Given the description of an element on the screen output the (x, y) to click on. 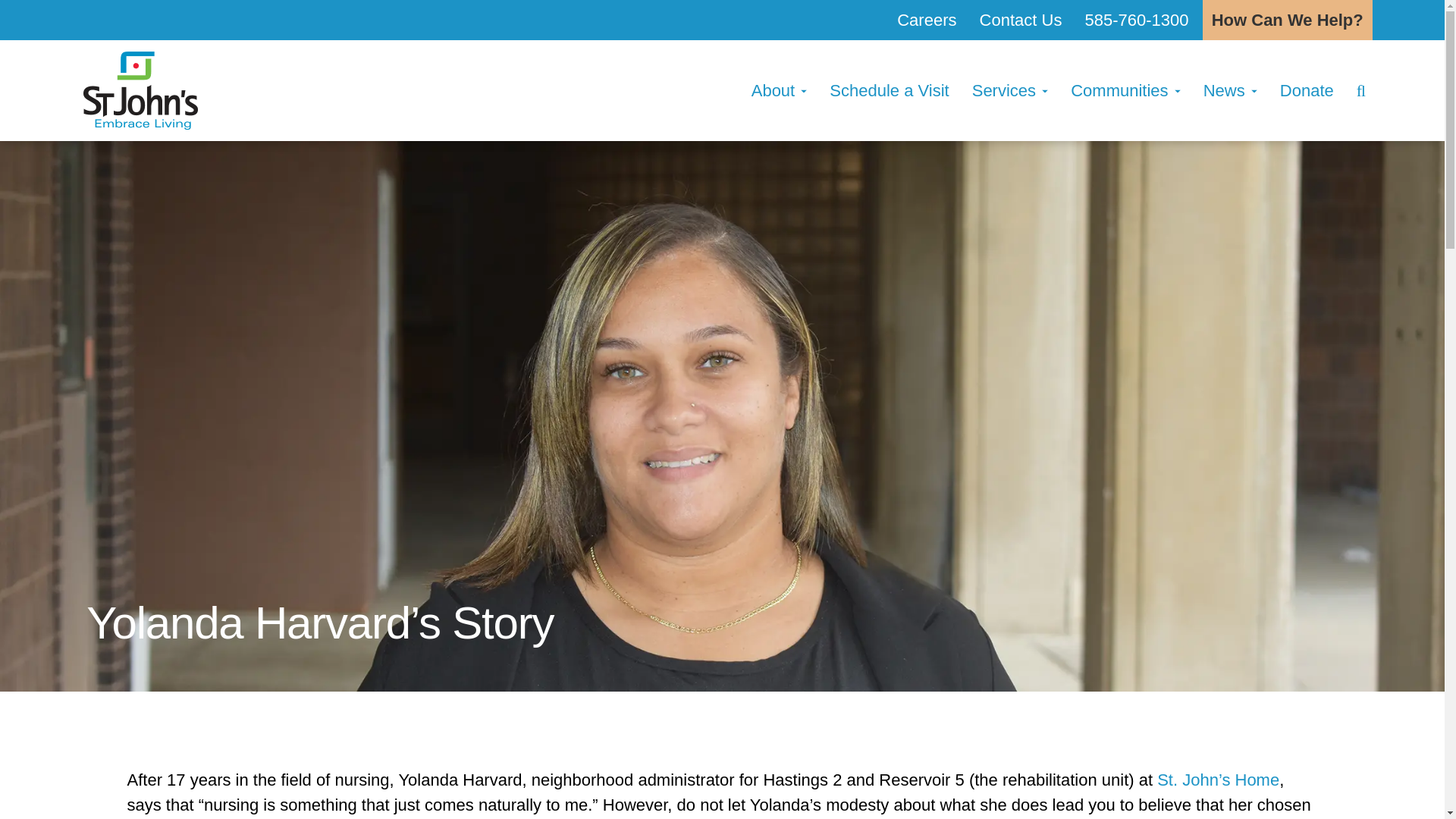
About (778, 90)
Schedule a Visit (888, 90)
Contact Us (1021, 20)
Contact Us (1021, 20)
585-760-1300 (1136, 20)
How Can We Help? (1287, 20)
Services (1009, 90)
News (1230, 90)
Schedule a Visit (888, 90)
Search (1364, 90)
Careers (926, 20)
Communities (1125, 90)
Careers (926, 20)
How Can We Help? (1287, 20)
Donate (1306, 90)
